Given the description of an element on the screen output the (x, y) to click on. 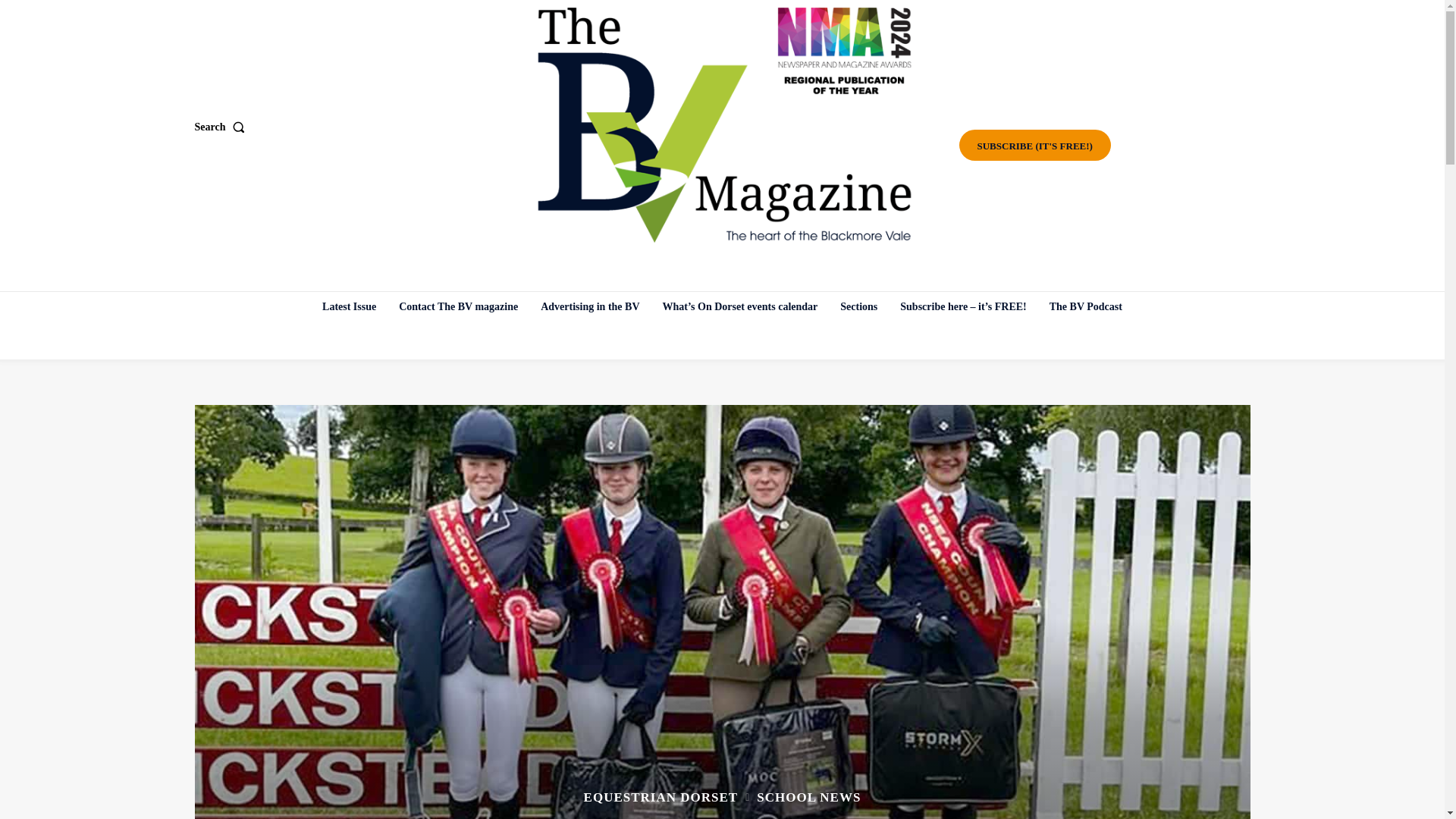
Search (221, 127)
BV magazine from the Blackmore Vale (724, 125)
Contact The BV magazine (458, 306)
Latest Issue (349, 306)
